Given the description of an element on the screen output the (x, y) to click on. 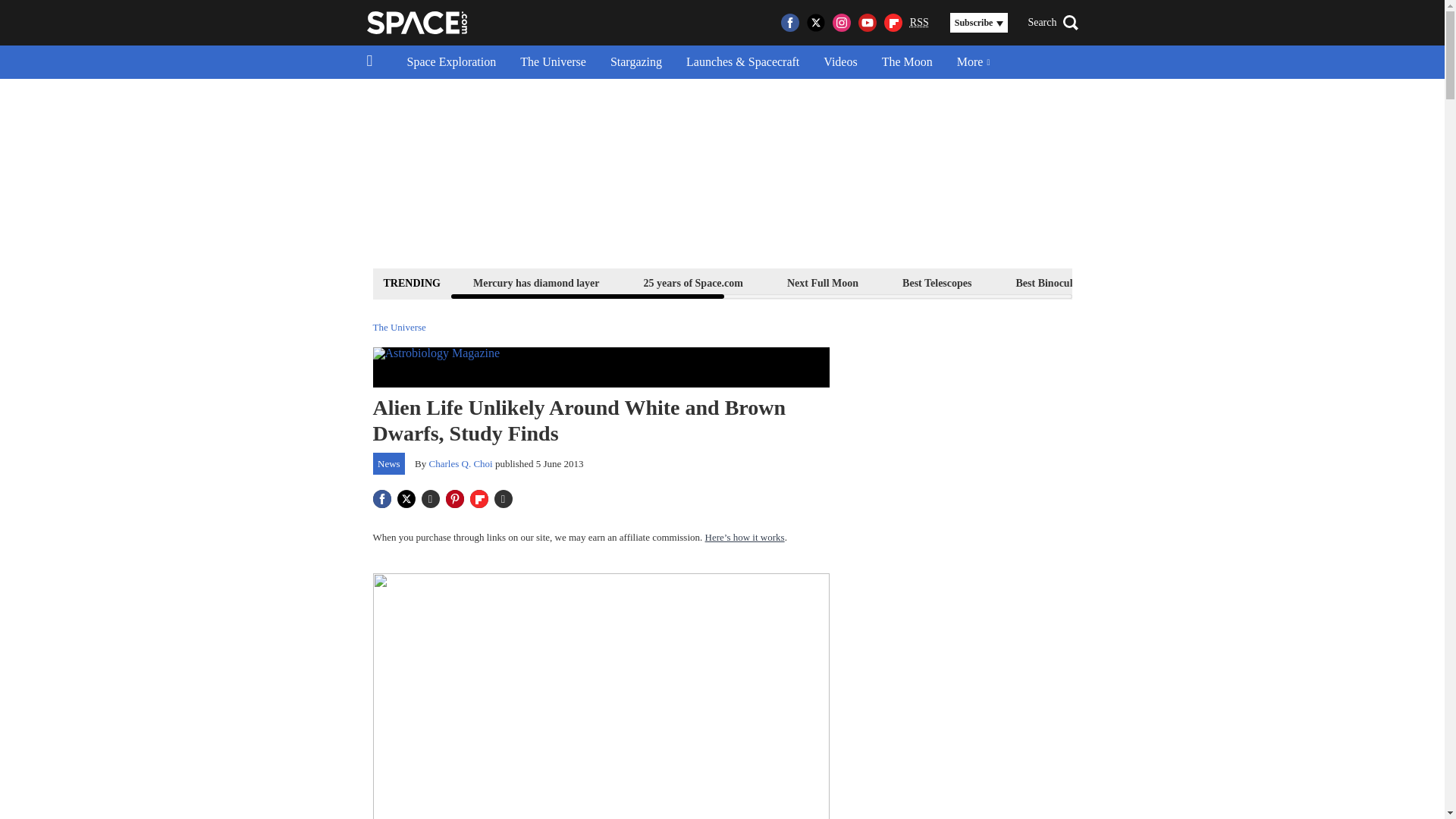
Best Binoculars (1051, 282)
Really Simple Syndication (919, 21)
Stargazing (636, 61)
Next Full Moon (822, 282)
The Universe (553, 61)
Mercury has diamond layer (536, 282)
Videos (839, 61)
The Moon (906, 61)
25 years of Space.com (693, 282)
Space Exploration (451, 61)
Best Telescopes (936, 282)
RSS (919, 22)
Best Star Projectors (1176, 282)
Space Calendar (1301, 282)
